Given the description of an element on the screen output the (x, y) to click on. 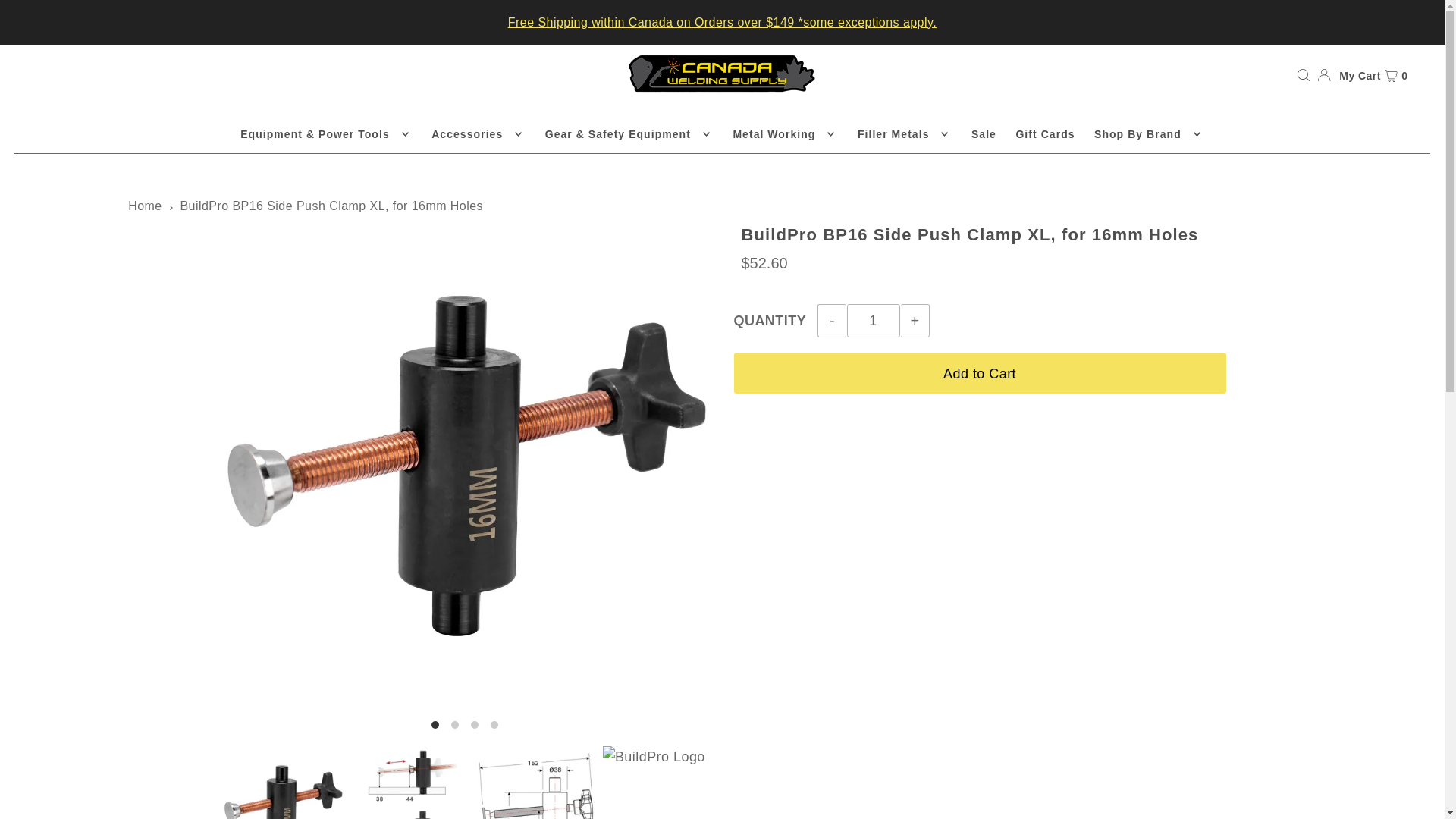
Home (144, 205)
Shipping Policy (722, 21)
1 (873, 320)
Add to Cart (979, 372)
